Given the description of an element on the screen output the (x, y) to click on. 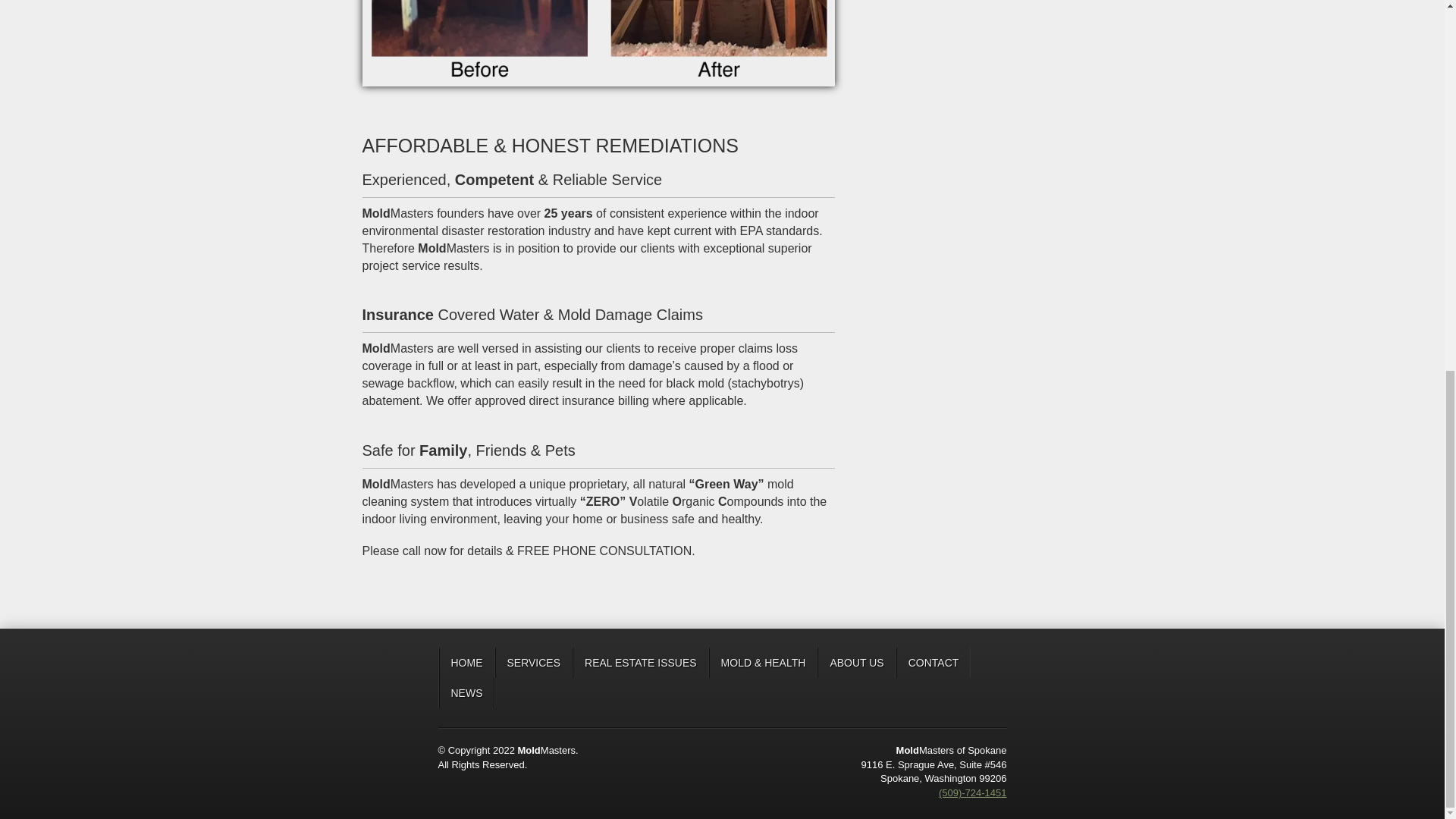
ABOUT US (855, 662)
REAL ESTATE ISSUES (640, 662)
HOME (466, 662)
NEWS (466, 693)
SERVICES (533, 662)
CONTACT (933, 662)
